Given the description of an element on the screen output the (x, y) to click on. 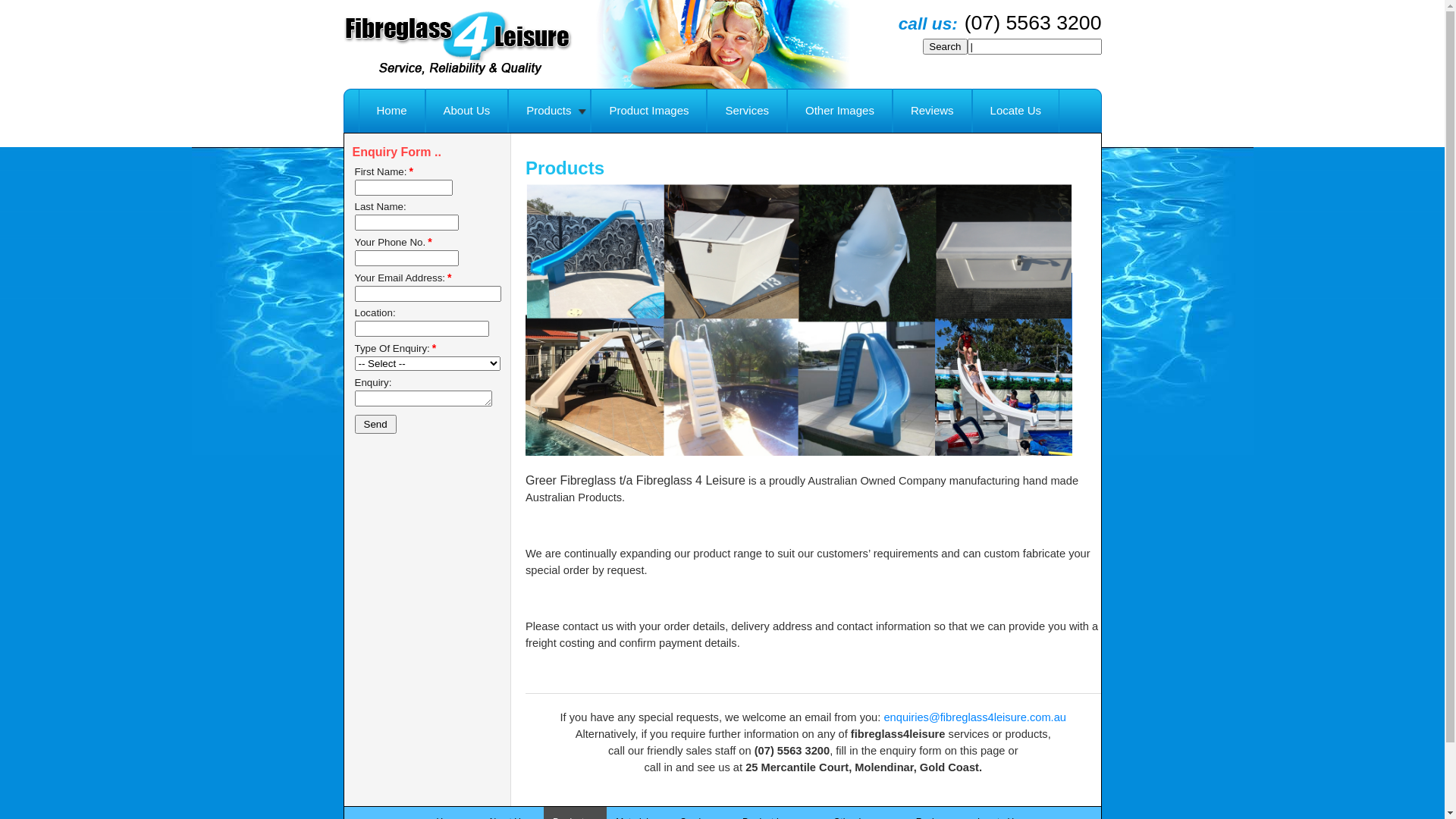
Locate Us Element type: text (1016, 110)
Home Element type: text (390, 110)
Product Images Element type: text (648, 110)
About Us Element type: text (466, 110)
Products Element type: text (549, 110)
Other Images Element type: text (839, 110)
Services Element type: text (746, 110)
enquiries@fibreglass4leisure.com.au Element type: text (974, 717)
Send Element type: text (375, 423)
Search Element type: text (944, 46)
Reviews Element type: text (932, 110)
